Given the description of an element on the screen output the (x, y) to click on. 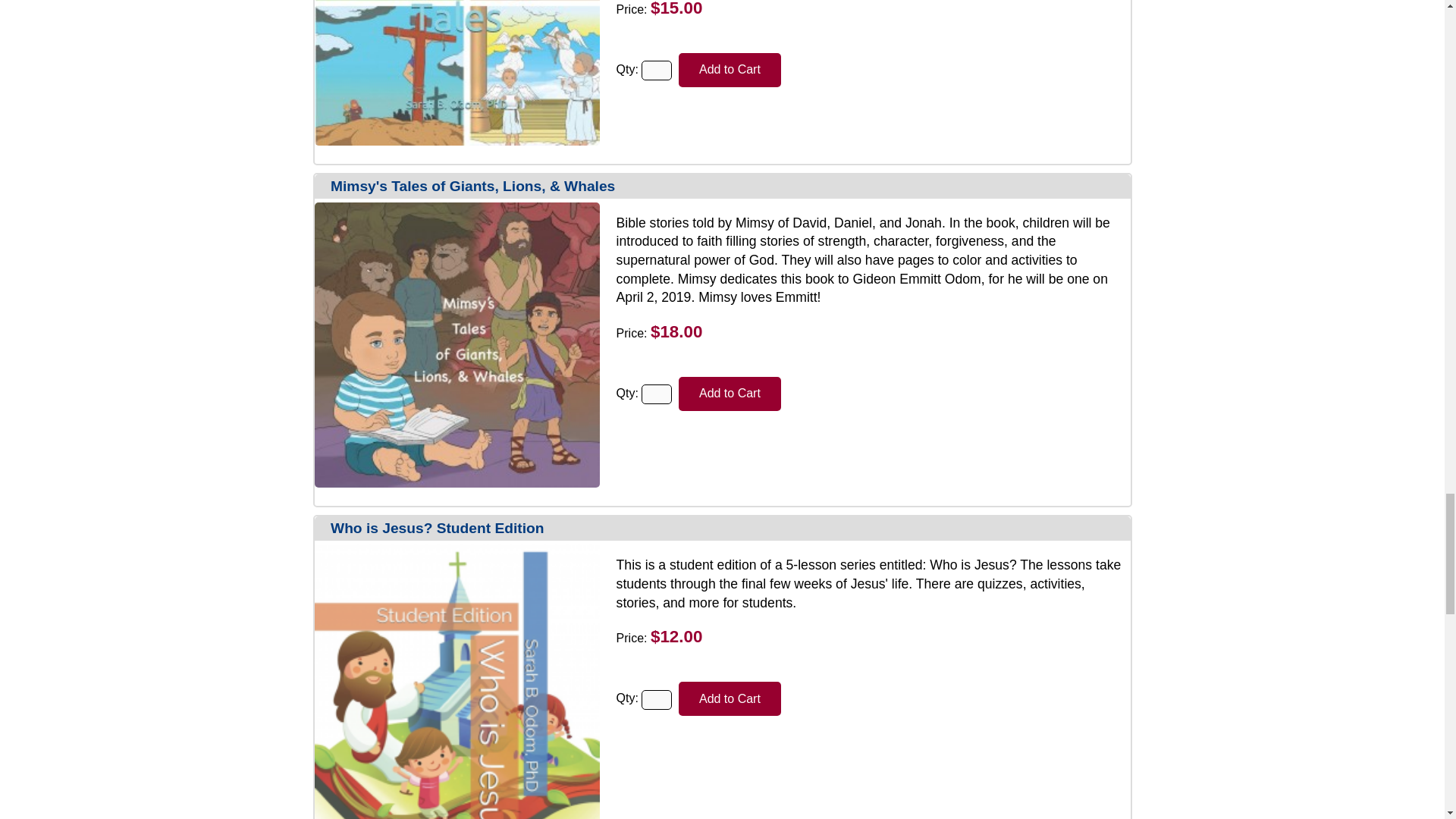
Add to Cart (729, 393)
Add to Cart (729, 698)
Add to Cart (729, 69)
Add to Cart (729, 393)
Add to Cart (729, 698)
Add to Cart (729, 69)
